Given the description of an element on the screen output the (x, y) to click on. 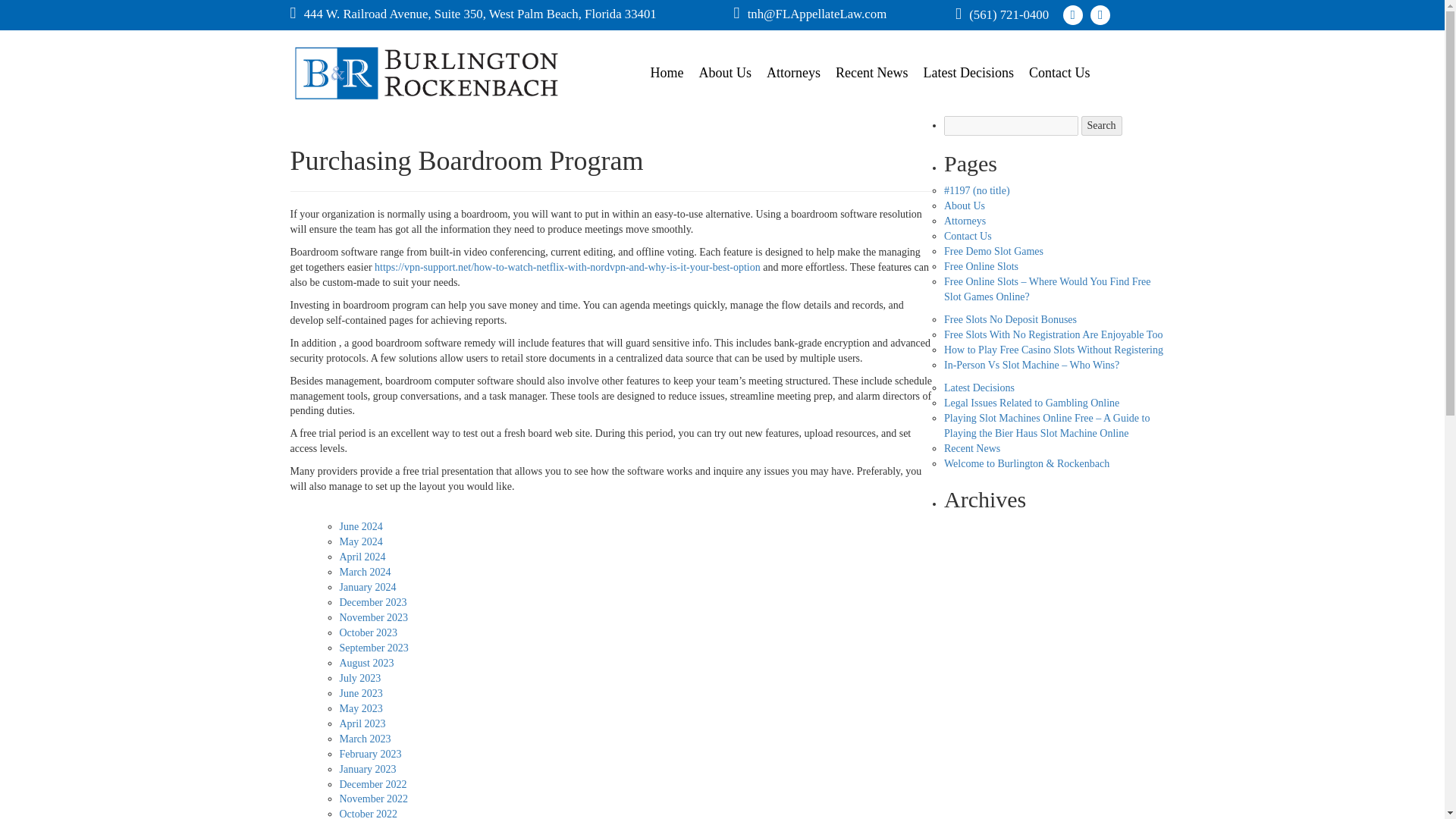
Search (1101, 125)
Legal Issues Related to Gambling Online (1031, 402)
March 2024 (365, 572)
About Us (964, 205)
Attorneys (964, 220)
November 2023 (374, 617)
October 2023 (368, 632)
Free Slots With No Registration Are Enjoyable Too (1052, 334)
June 2023 (360, 693)
September 2023 (374, 647)
Recent News (971, 448)
January 2024 (367, 586)
Free Demo Slot Games (993, 251)
Contact Us (967, 235)
July 2023 (360, 677)
